Given the description of an element on the screen output the (x, y) to click on. 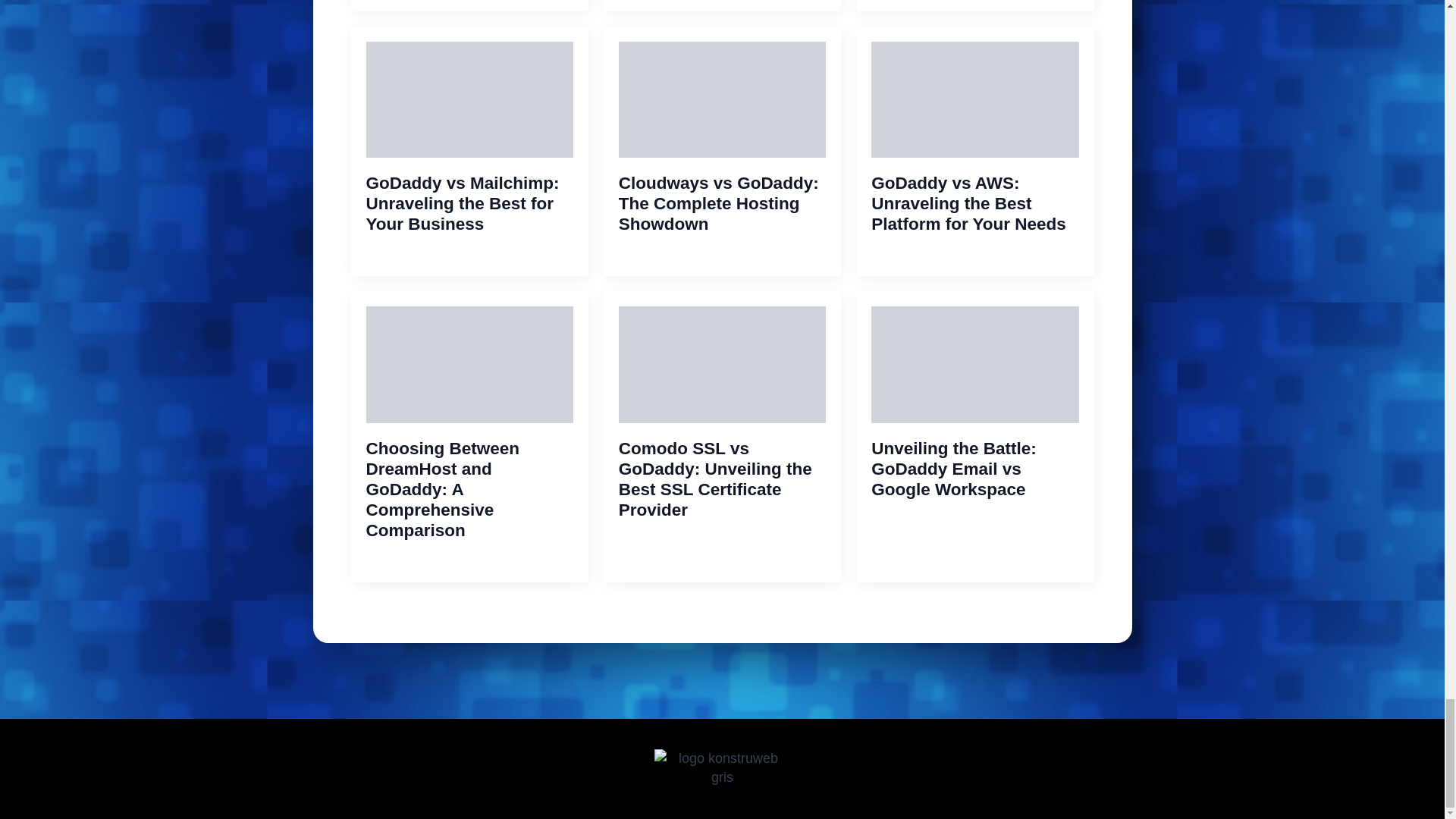
GoDaddy vs Mailchimp: Unraveling the Best for Your Business (468, 203)
GoDaddy vs AWS: Unraveling the Best Platform for Your Needs (974, 203)
Cloudways vs GoDaddy: The Complete Hosting Showdown (721, 203)
